Given the description of an element on the screen output the (x, y) to click on. 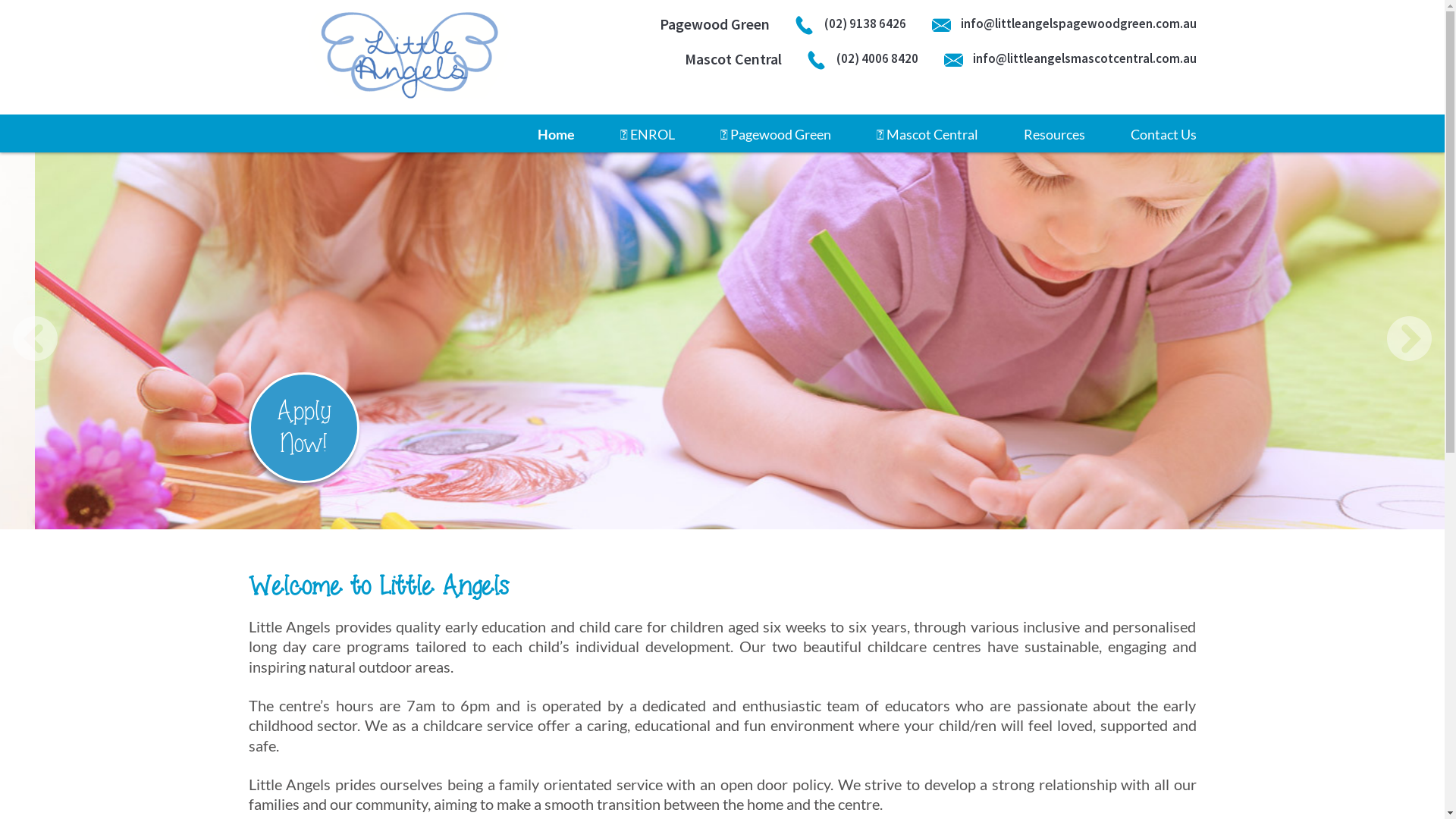
Apply
Now! Element type: text (303, 427)
Contact Us Element type: text (1162, 133)
Resources Element type: text (1054, 133)
(02) 4006 8420 Element type: text (861, 58)
(02) 9138 6426 Element type: text (849, 23)
info@littleangelsmascotcentral.com.au Element type: text (1069, 58)
Home Element type: text (555, 133)
info@littleangelspagewoodgreen.com.au Element type: text (1063, 23)
